Given the description of an element on the screen output the (x, y) to click on. 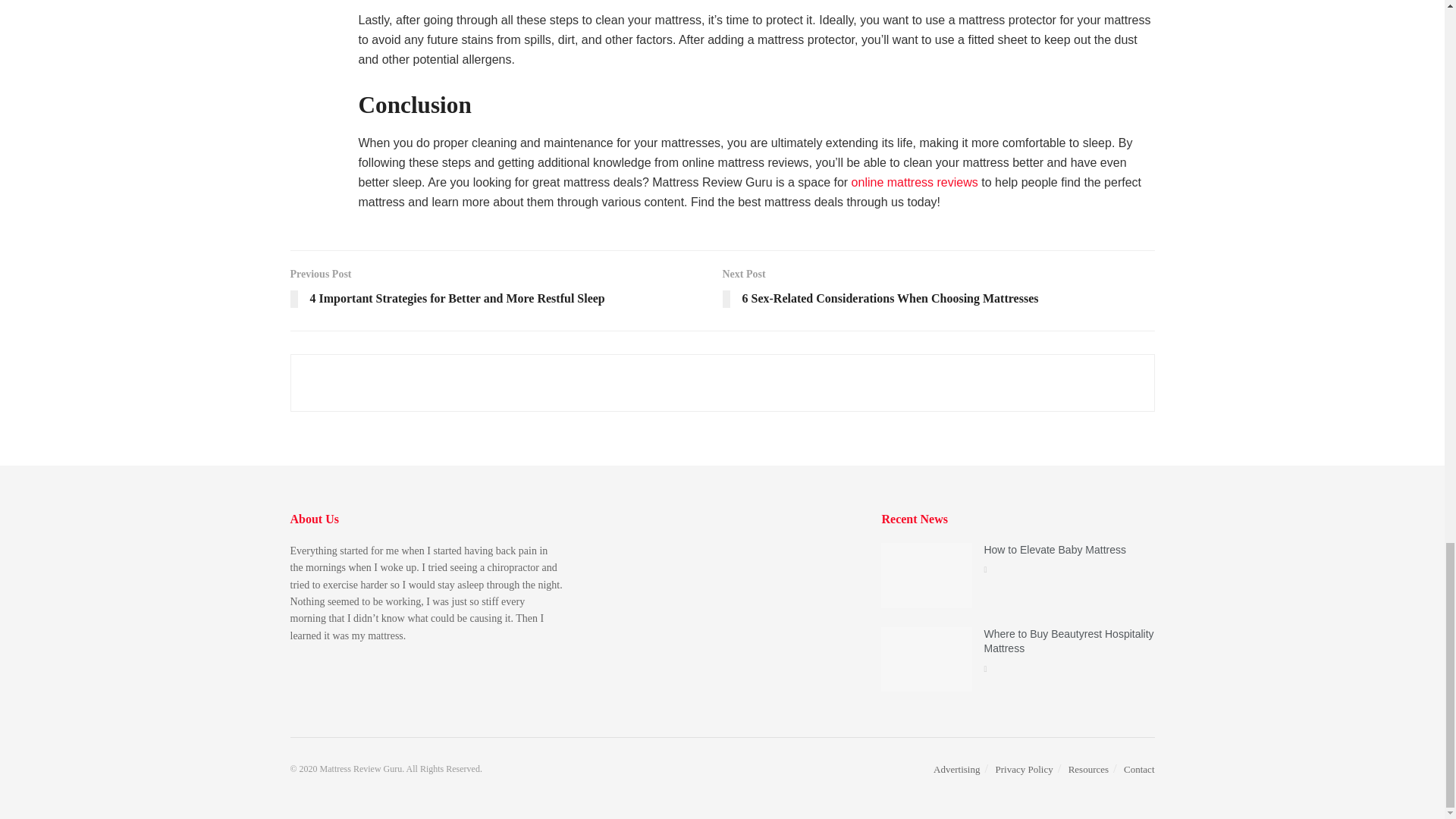
Where to Buy Beautyrest Hospitality Mattress (1068, 641)
How to Elevate Baby Mattress (1054, 549)
Advertising (956, 768)
online mattress reviews (914, 182)
